Given the description of an element on the screen output the (x, y) to click on. 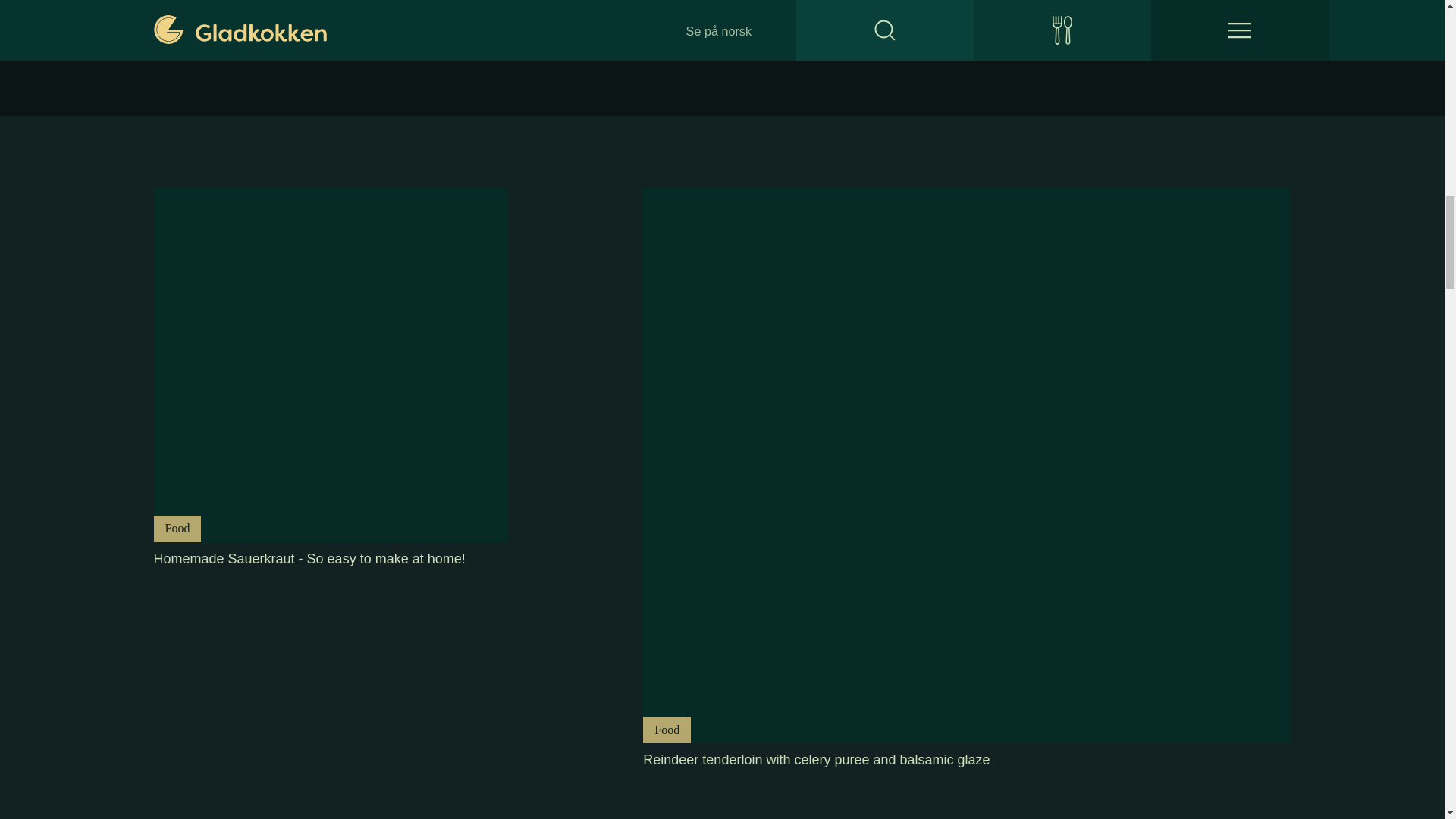
youtube (330, 41)
instagram (275, 41)
facebook (221, 41)
